Given the description of an element on the screen output the (x, y) to click on. 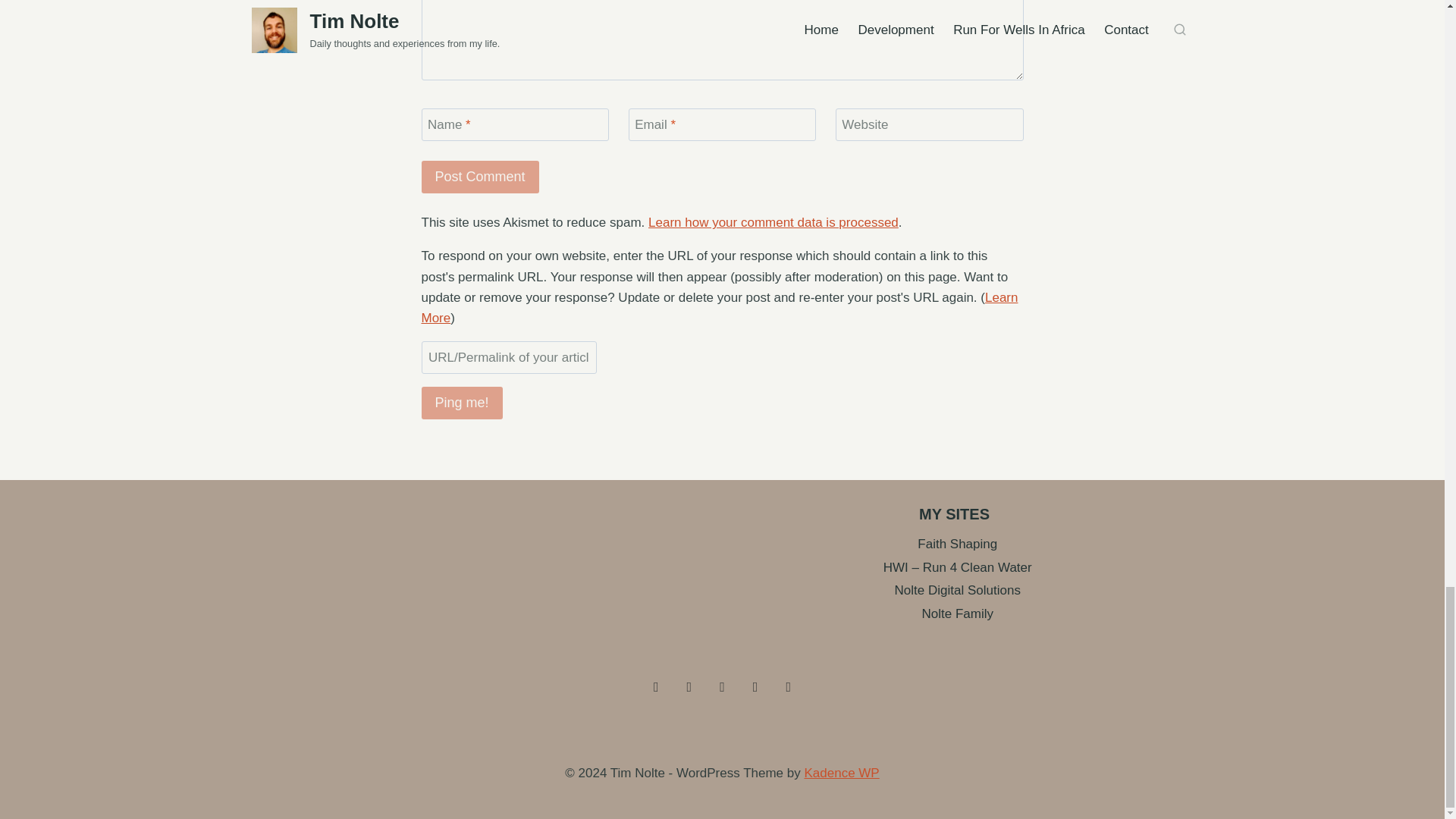
Ping me! (462, 402)
Github (656, 687)
Youtube (788, 687)
Wordpress (722, 687)
Linkedin (754, 687)
Post Comment (480, 176)
Mastodon (689, 687)
